Given the description of an element on the screen output the (x, y) to click on. 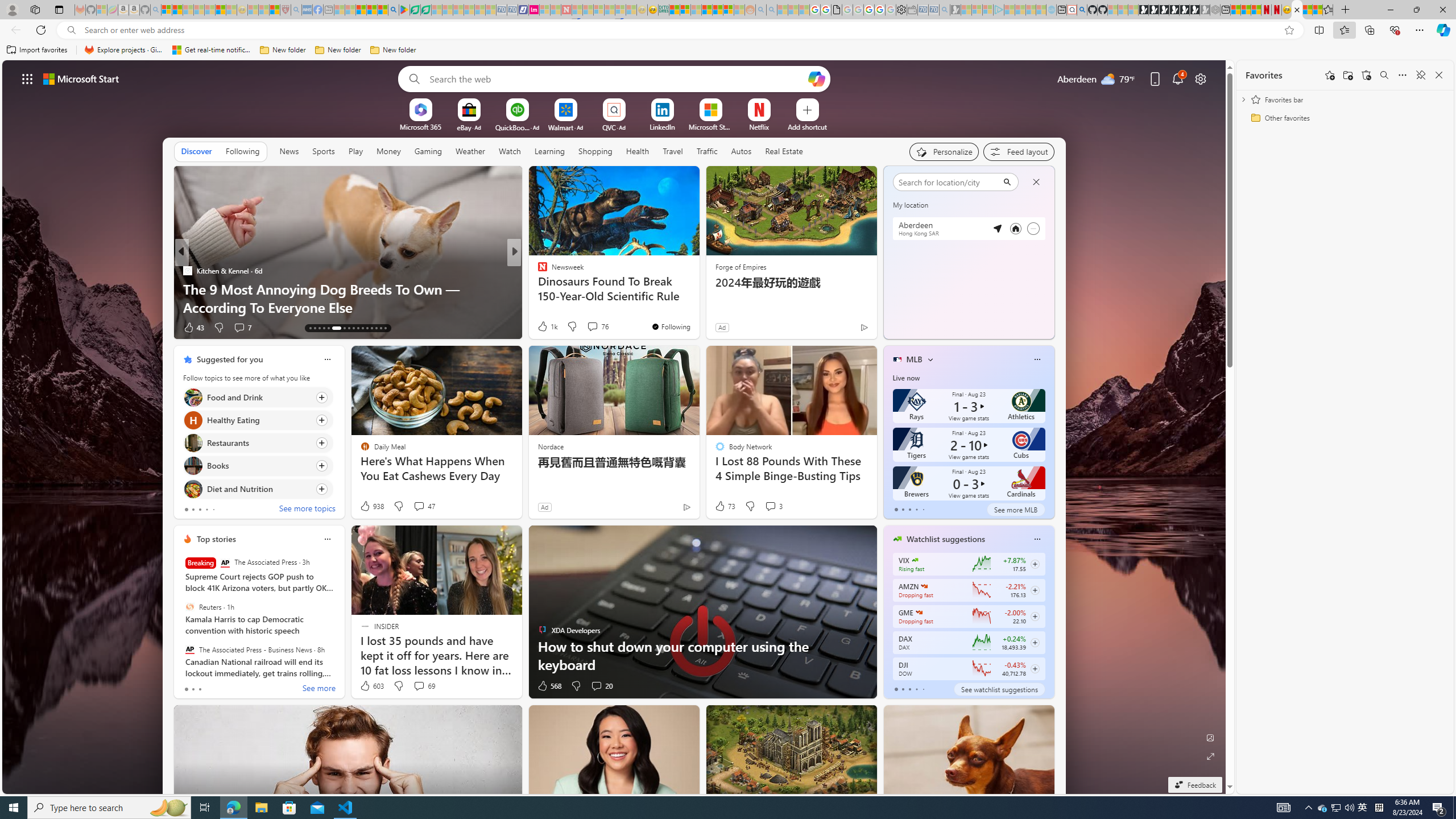
Add this page to favorites (1330, 74)
Easiest 3 ingredient dessert I have ever made (697, 307)
Mostly cloudy (904, 208)
Add a site (807, 126)
